Given the description of an element on the screen output the (x, y) to click on. 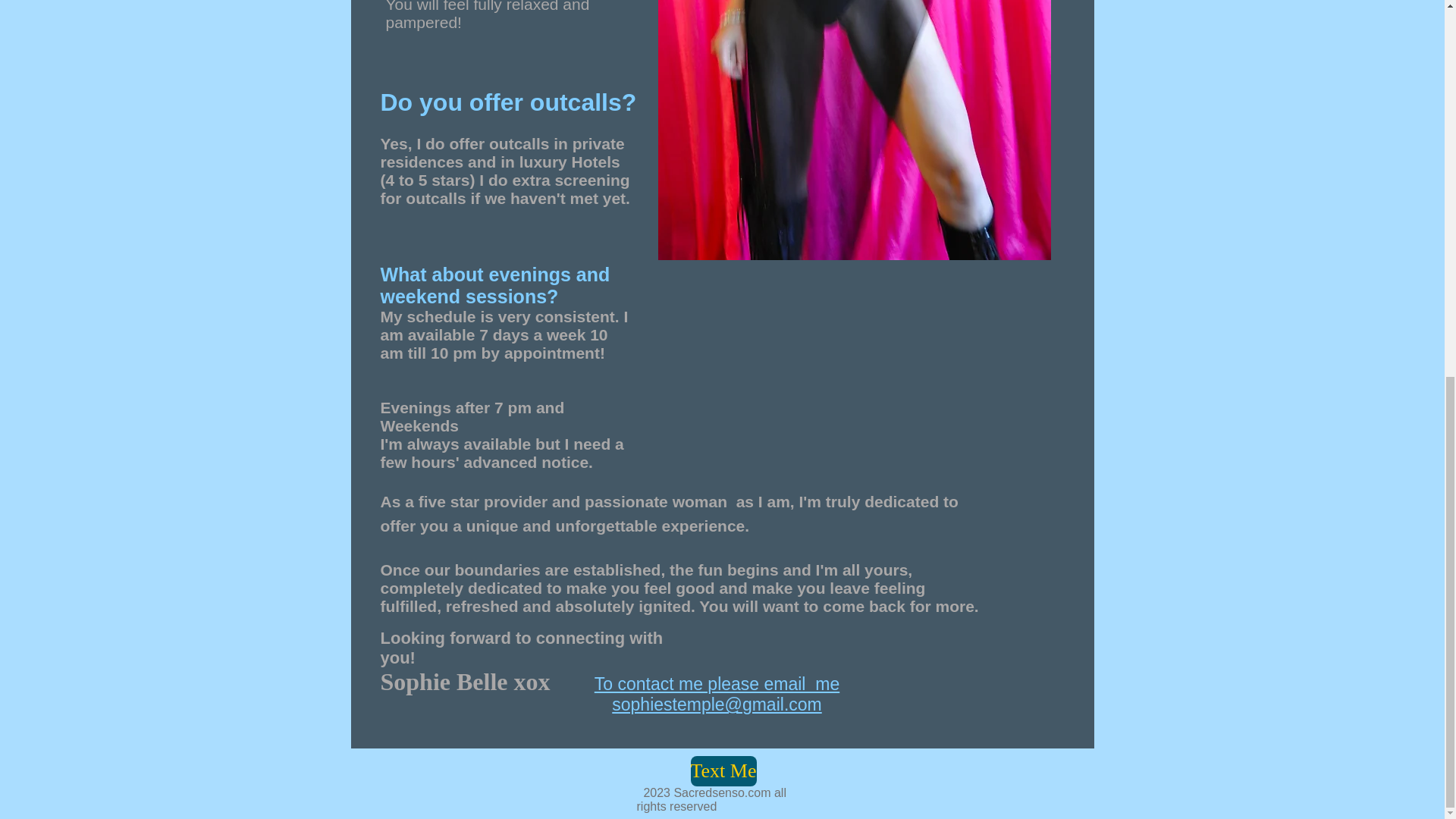
To contact me please email  me (717, 683)
. (854, 130)
Text Me (722, 770)
